Given the description of an element on the screen output the (x, y) to click on. 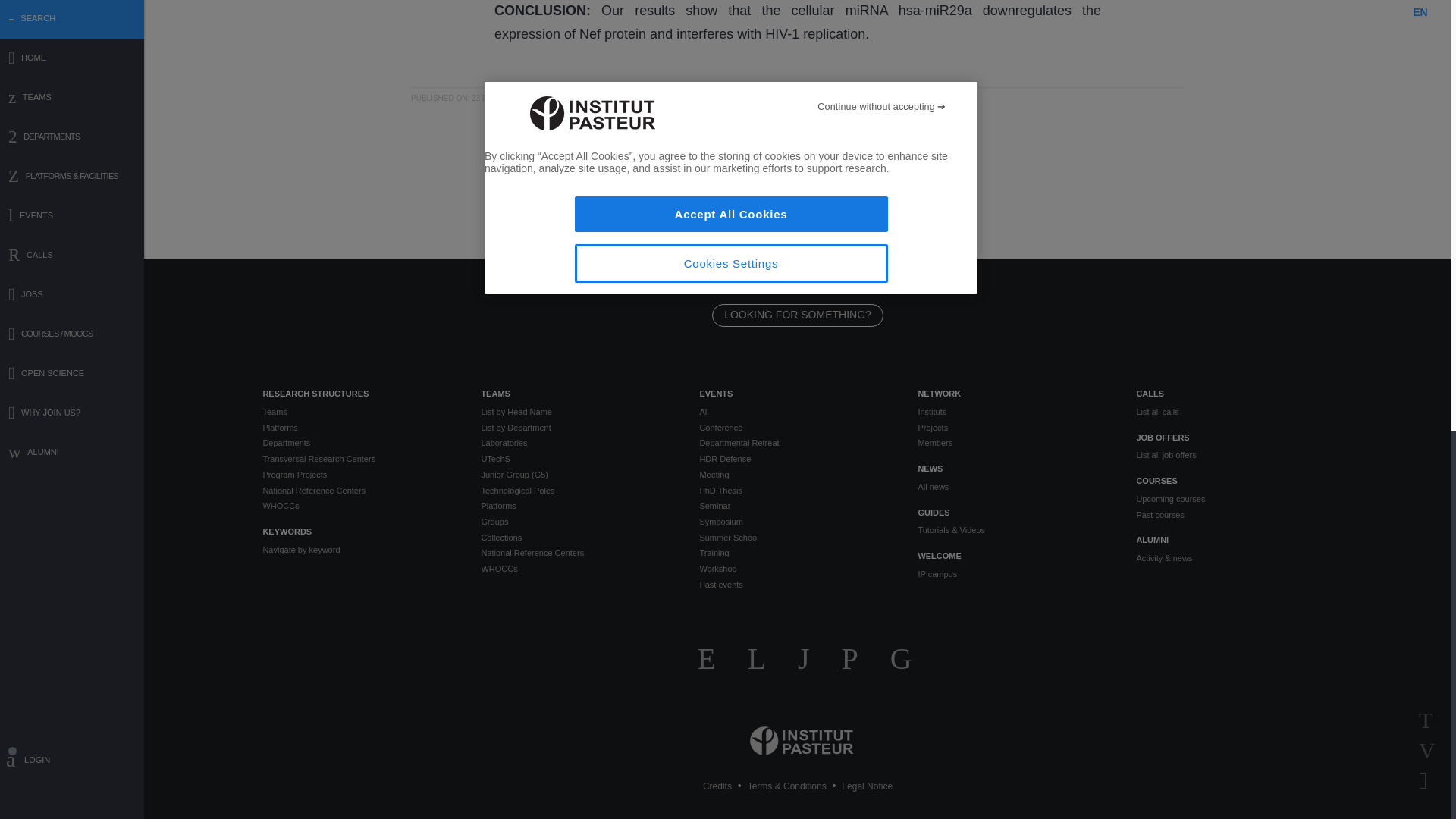
Program Projects (360, 474)
Teams (360, 411)
Transversal Research Centers (360, 459)
Platforms (360, 427)
Departments (360, 442)
